Given the description of an element on the screen output the (x, y) to click on. 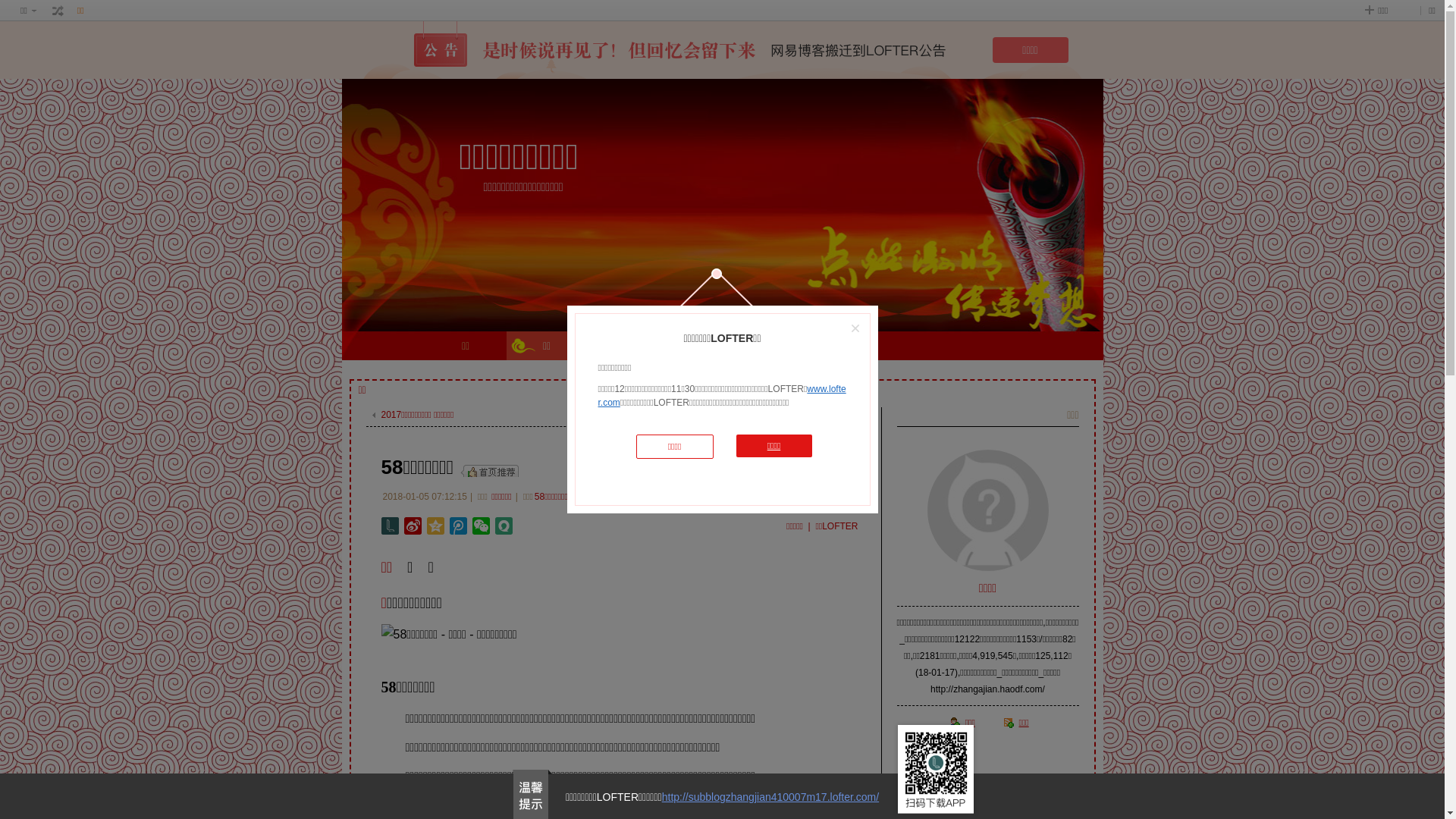
  Element type: text (490, 469)
  Element type: text (58, 10)
www.lofter.com Element type: text (721, 395)
LOFTER Element type: text (627, 345)
http://subblogzhangjian410007m17.lofter.com/ Element type: text (770, 796)
